Given the description of an element on the screen output the (x, y) to click on. 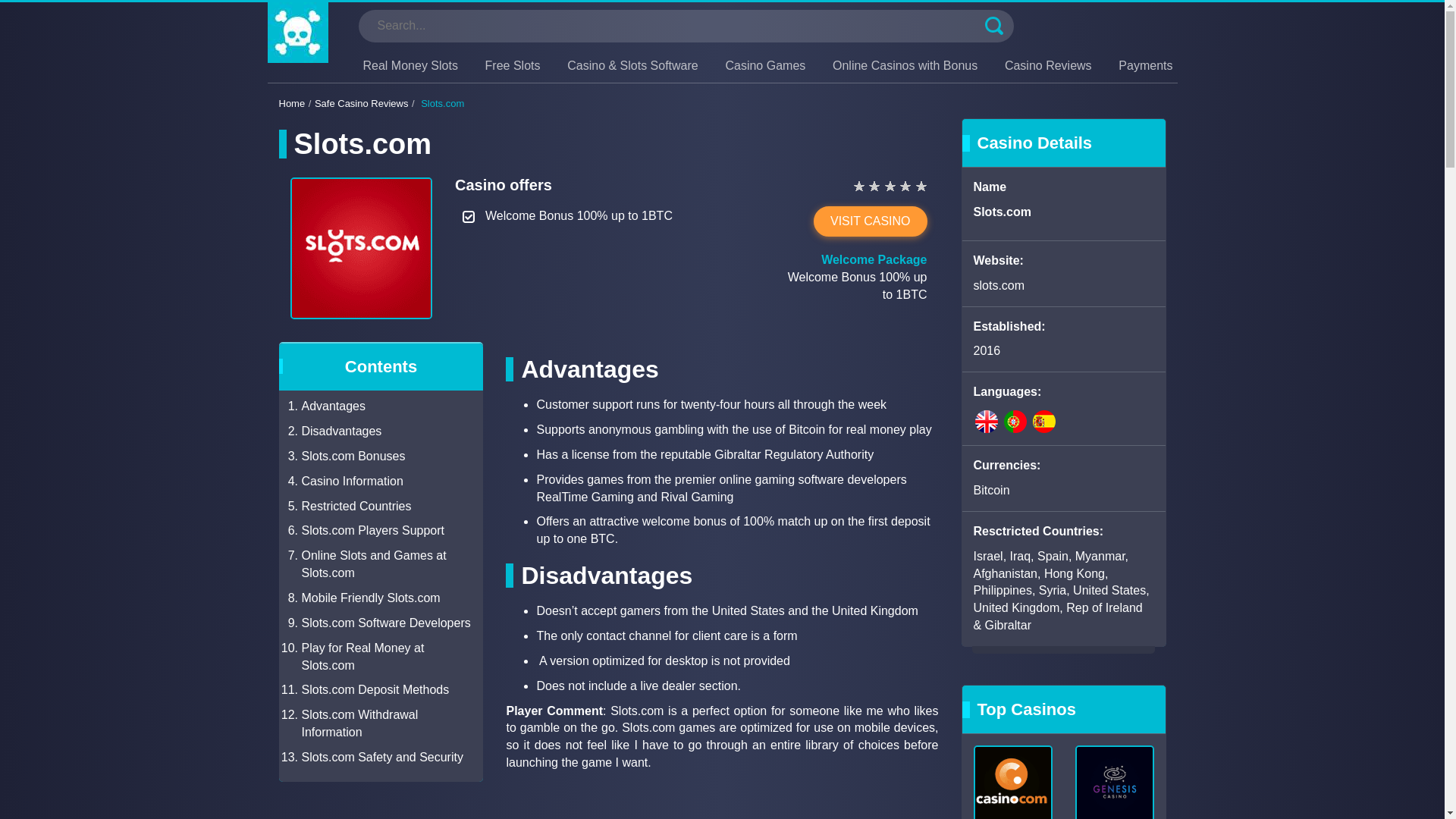
Real Money Slots (409, 65)
Free Slots (512, 65)
Casino Reviews (1048, 65)
Payments (1145, 65)
Online Casinos with Bonus (904, 65)
Casino Games (765, 65)
